Given the description of an element on the screen output the (x, y) to click on. 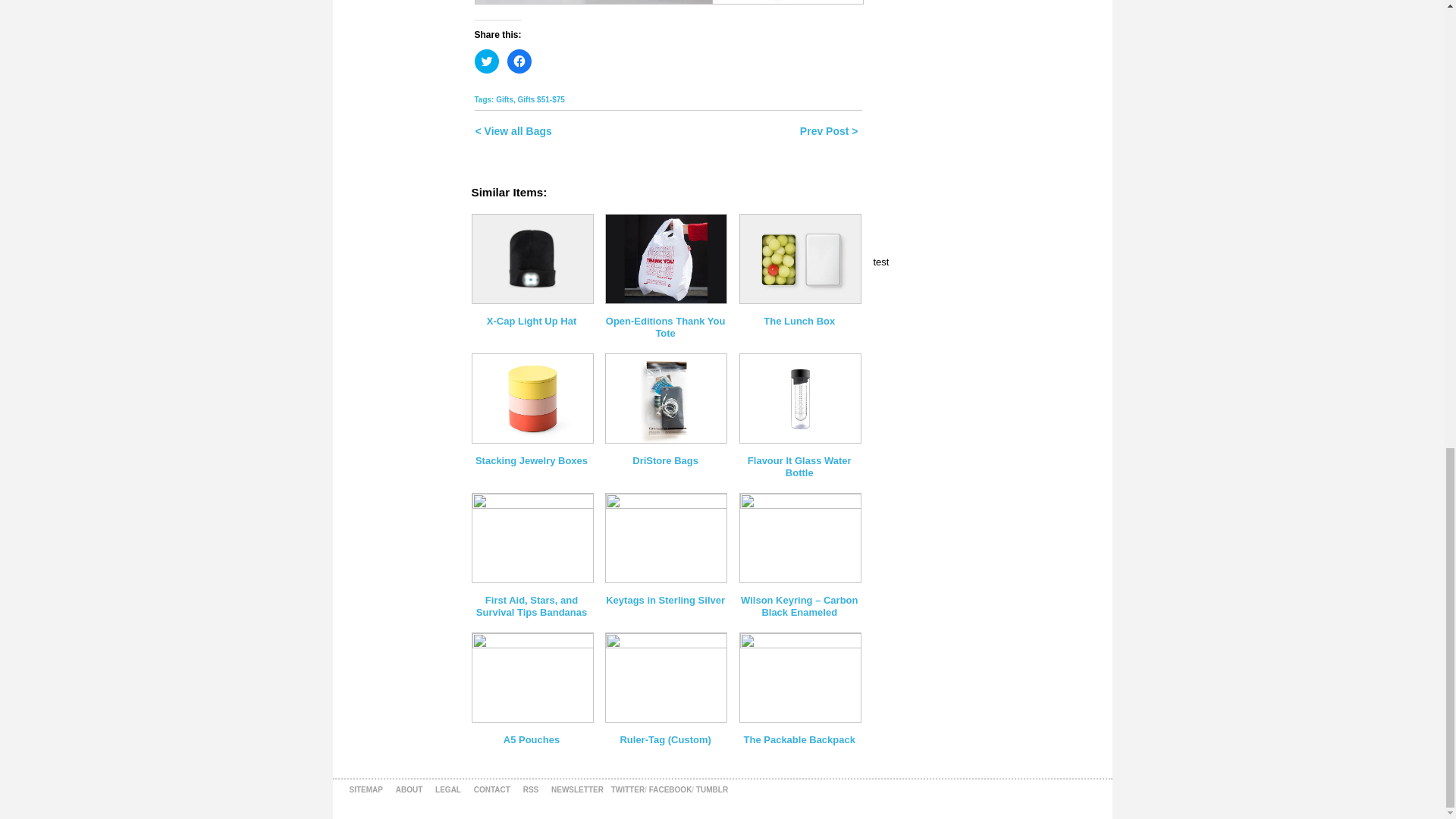
Click to share on Twitter (486, 61)
Click to share on Facebook (518, 61)
